Given the description of an element on the screen output the (x, y) to click on. 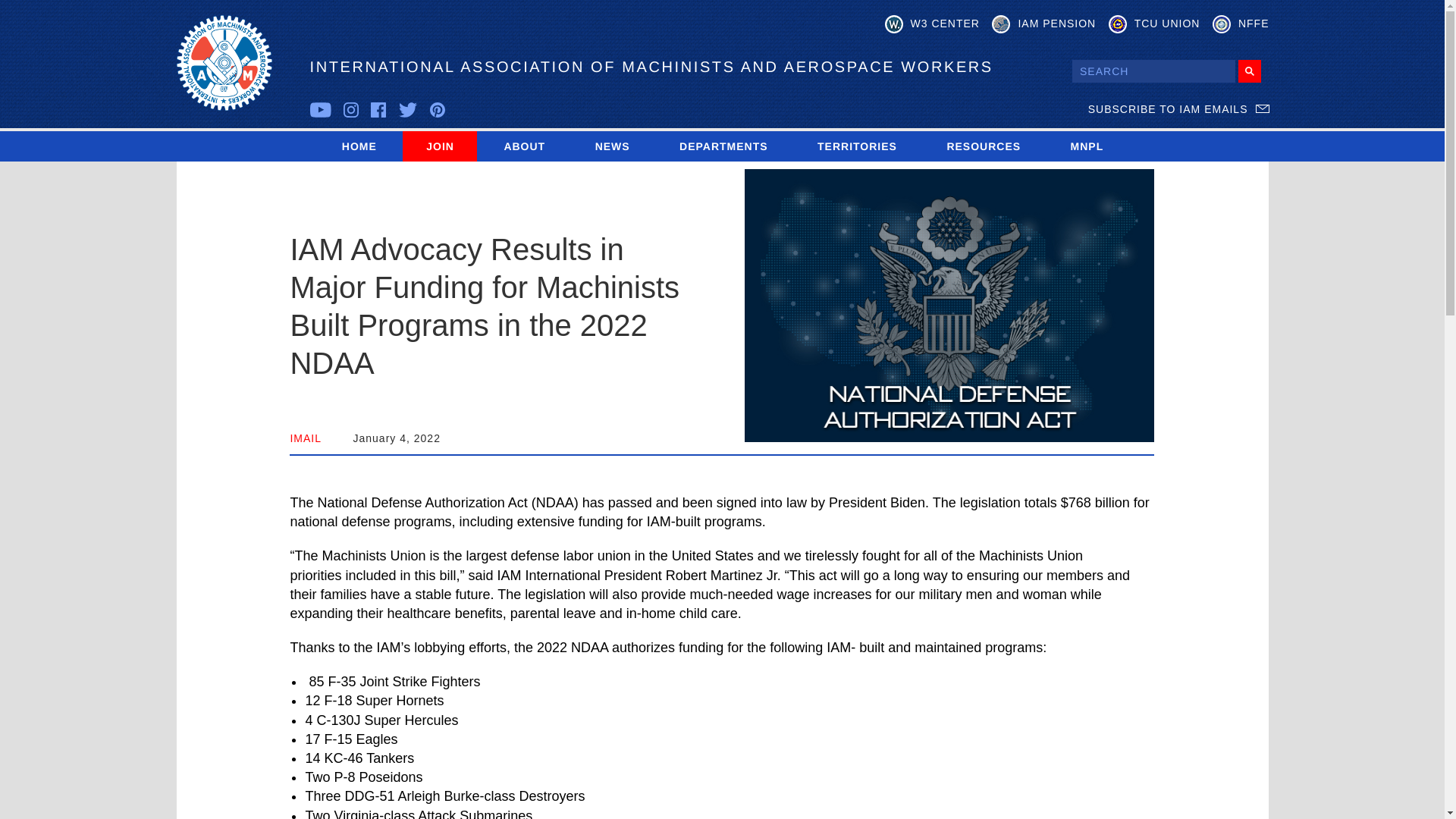
IAM PENSION (1043, 24)
TERRITORIES (856, 146)
NEWS (612, 146)
ABOUT (523, 146)
DEPARTMENTS (723, 146)
SUBSCRIBE TO IAM EMAILS (1178, 108)
JOIN (440, 146)
W3 CENTER (932, 24)
MNPL (1086, 146)
IMAIL (305, 438)
NFFE (1240, 24)
TCU UNION (1153, 24)
HOME (358, 146)
RESOURCES (983, 146)
